Given the description of an element on the screen output the (x, y) to click on. 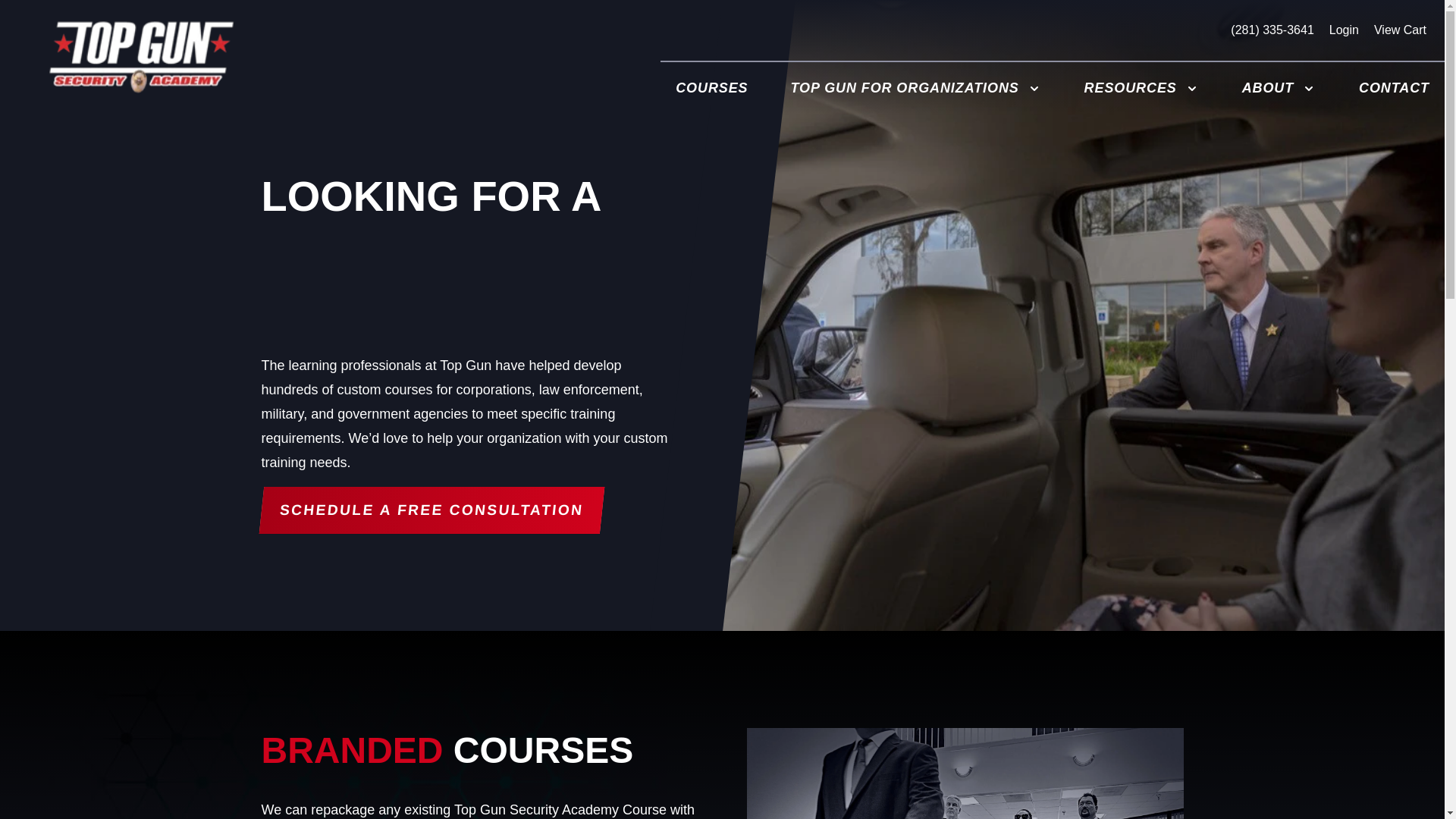
TOP GUN FOR ORGANIZATIONS (916, 87)
ABOUT (1279, 87)
Top Gun Security Academy Courses (711, 87)
RESOURCES (1141, 87)
Login (1342, 30)
COURSES (711, 87)
View Cart (1398, 30)
Top Gun Security Academy (141, 56)
SCHEDULE A FREE CONSULTATION (428, 509)
